Given the description of an element on the screen output the (x, y) to click on. 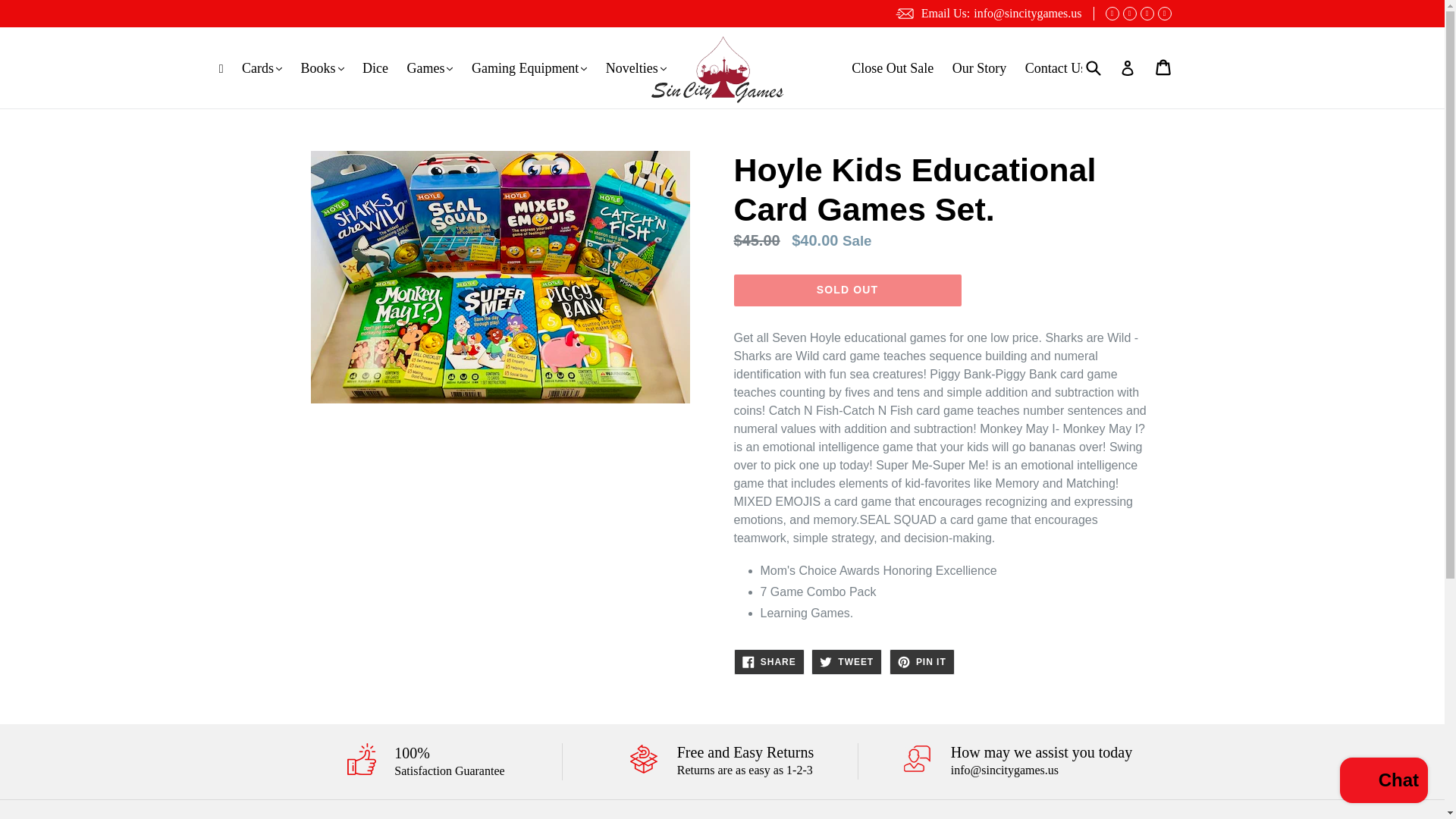
Sin City Games on Instagram (1163, 13)
Sin City Games on Facebook (1112, 13)
Share on Facebook (769, 661)
Tweet on Twitter (846, 661)
Shopify online store chat (1383, 781)
Pin on Pinterest (922, 661)
Sin City Games on Pinterest (1147, 13)
Sin City Games on Twitter (1128, 13)
